Given the description of an element on the screen output the (x, y) to click on. 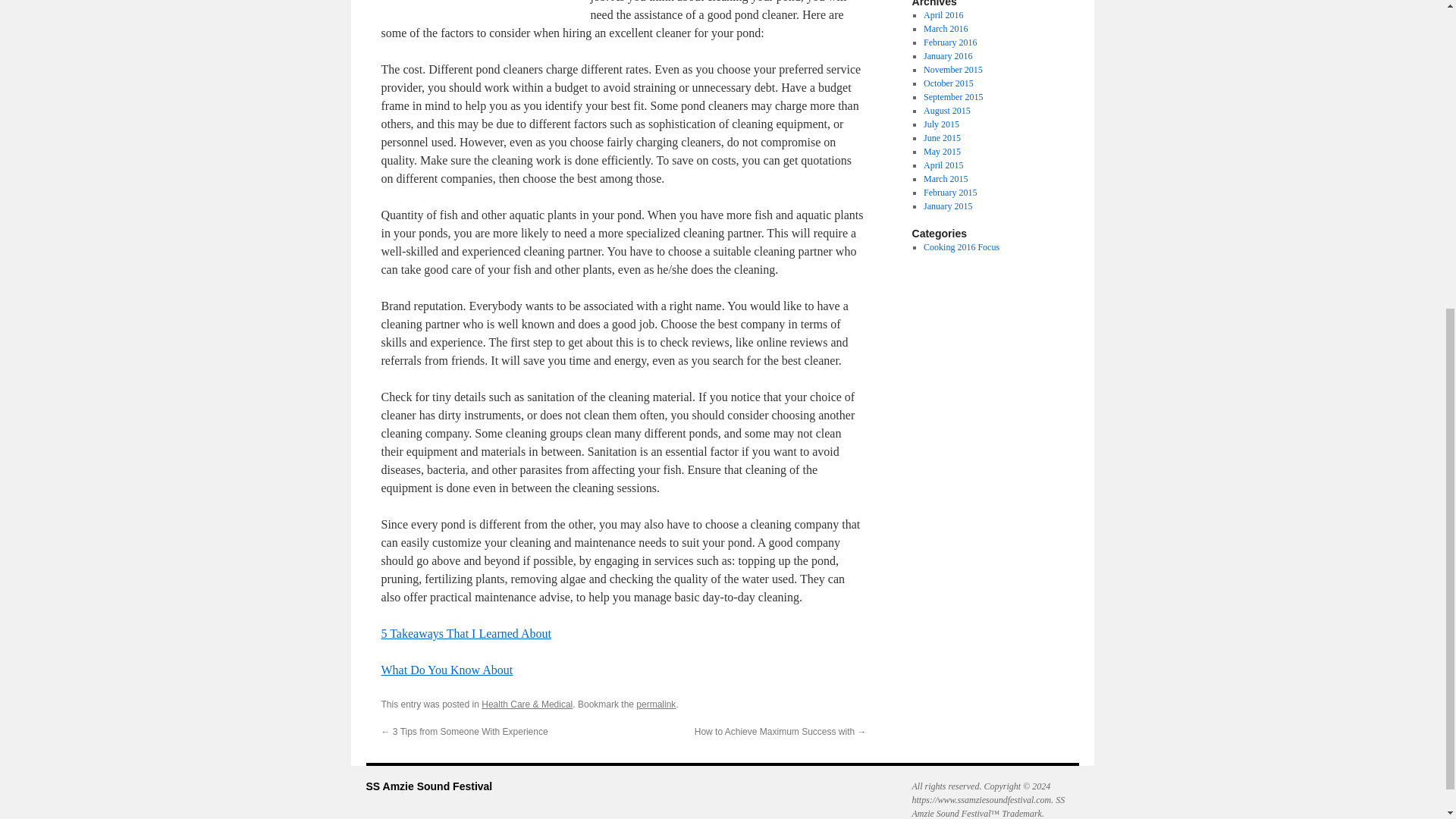
June 2015 (941, 137)
March 2016 (945, 28)
July 2015 (941, 123)
April 2016 (942, 14)
permalink (655, 704)
February 2016 (949, 41)
Permalink to The Art of Mastering (655, 704)
What Do You Know About (446, 669)
January 2015 (947, 205)
February 2015 (949, 192)
May 2015 (941, 151)
October 2015 (948, 82)
April 2015 (942, 164)
November 2015 (952, 69)
September 2015 (952, 96)
